Given the description of an element on the screen output the (x, y) to click on. 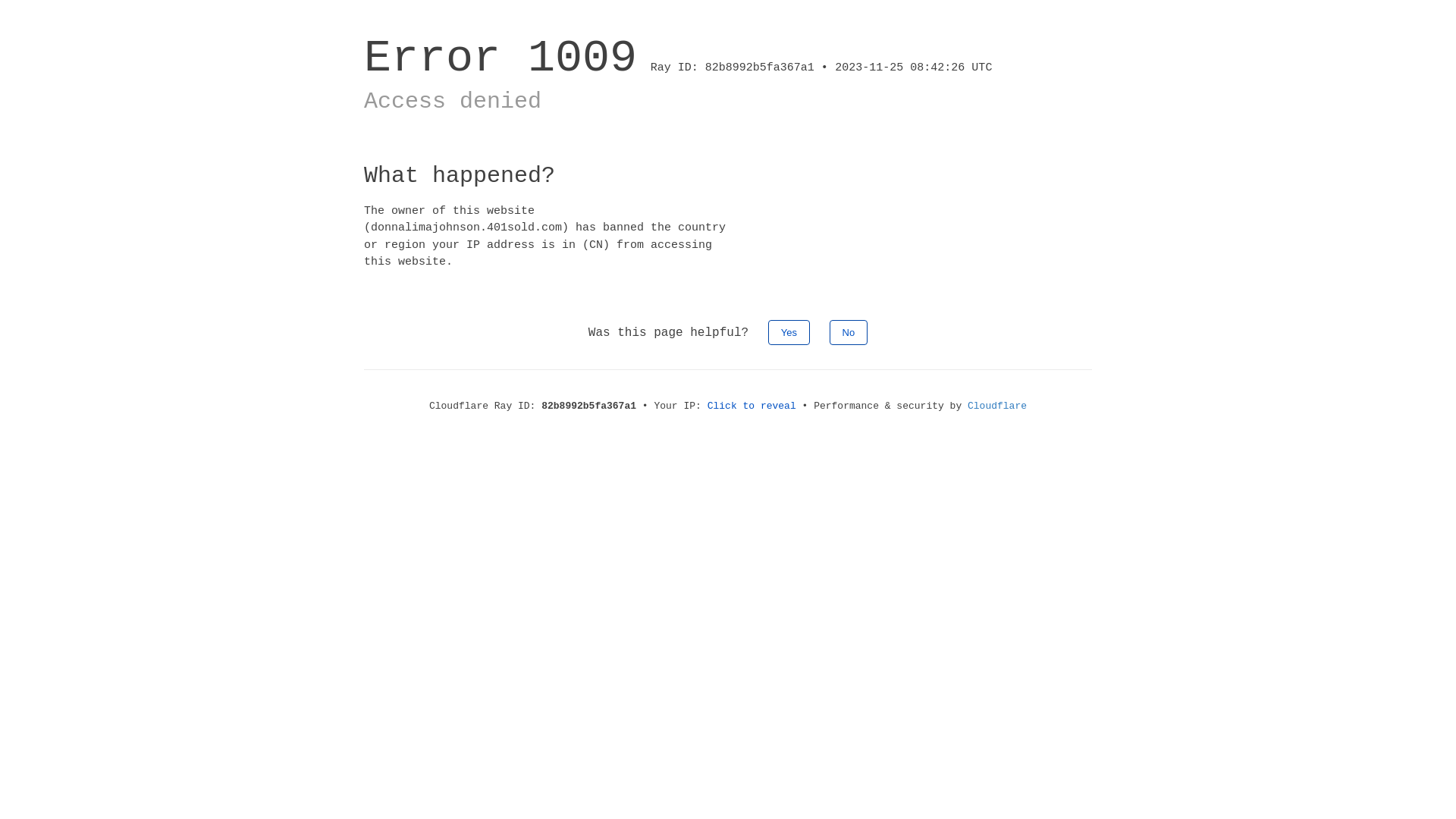
Cloudflare Element type: text (996, 405)
Yes Element type: text (788, 332)
No Element type: text (848, 332)
Click to reveal Element type: text (751, 405)
